Given the description of an element on the screen output the (x, y) to click on. 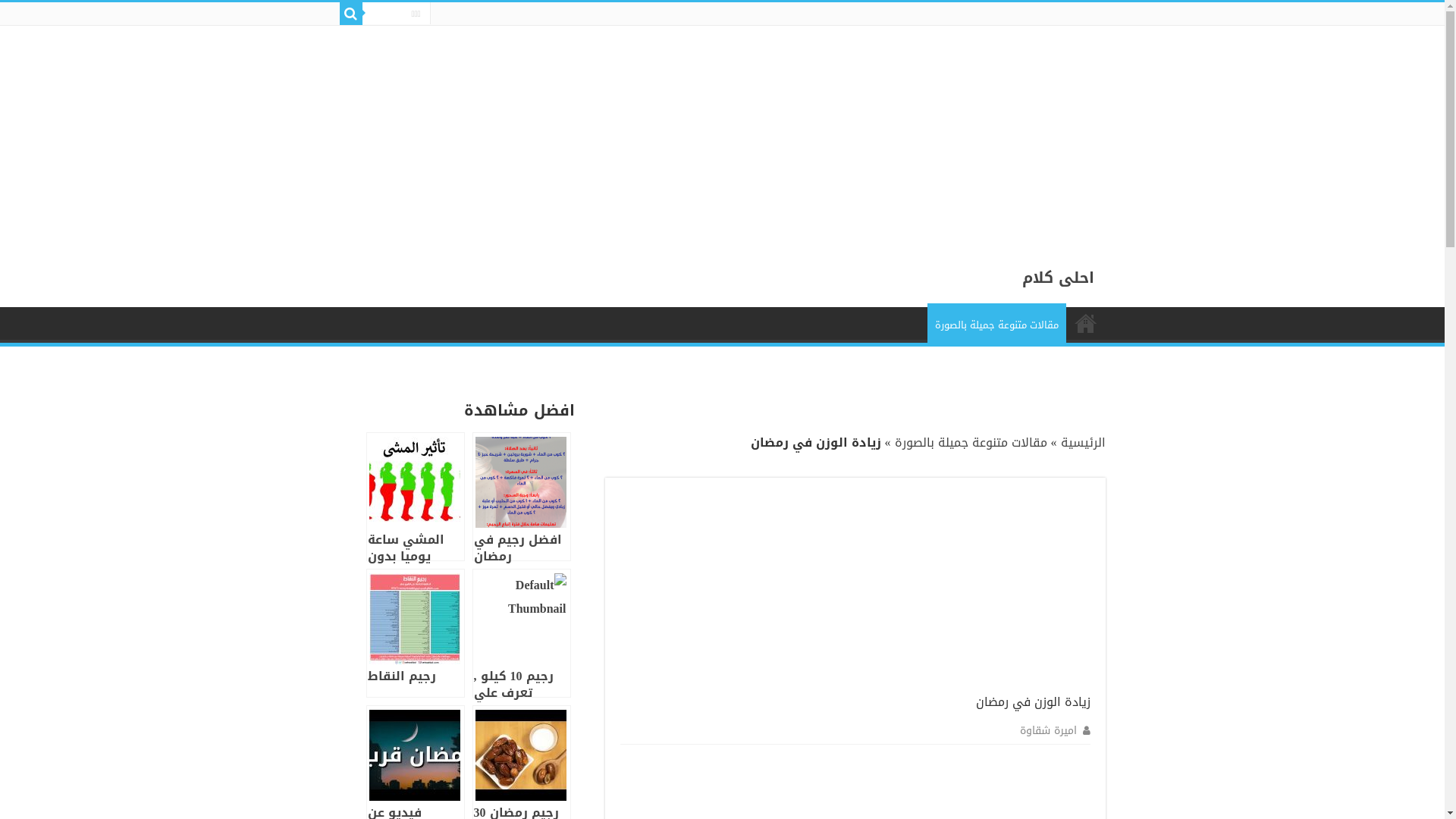
Advertisement Element type: hover (976, 587)
Advertisement Element type: hover (989, 131)
